Given the description of an element on the screen output the (x, y) to click on. 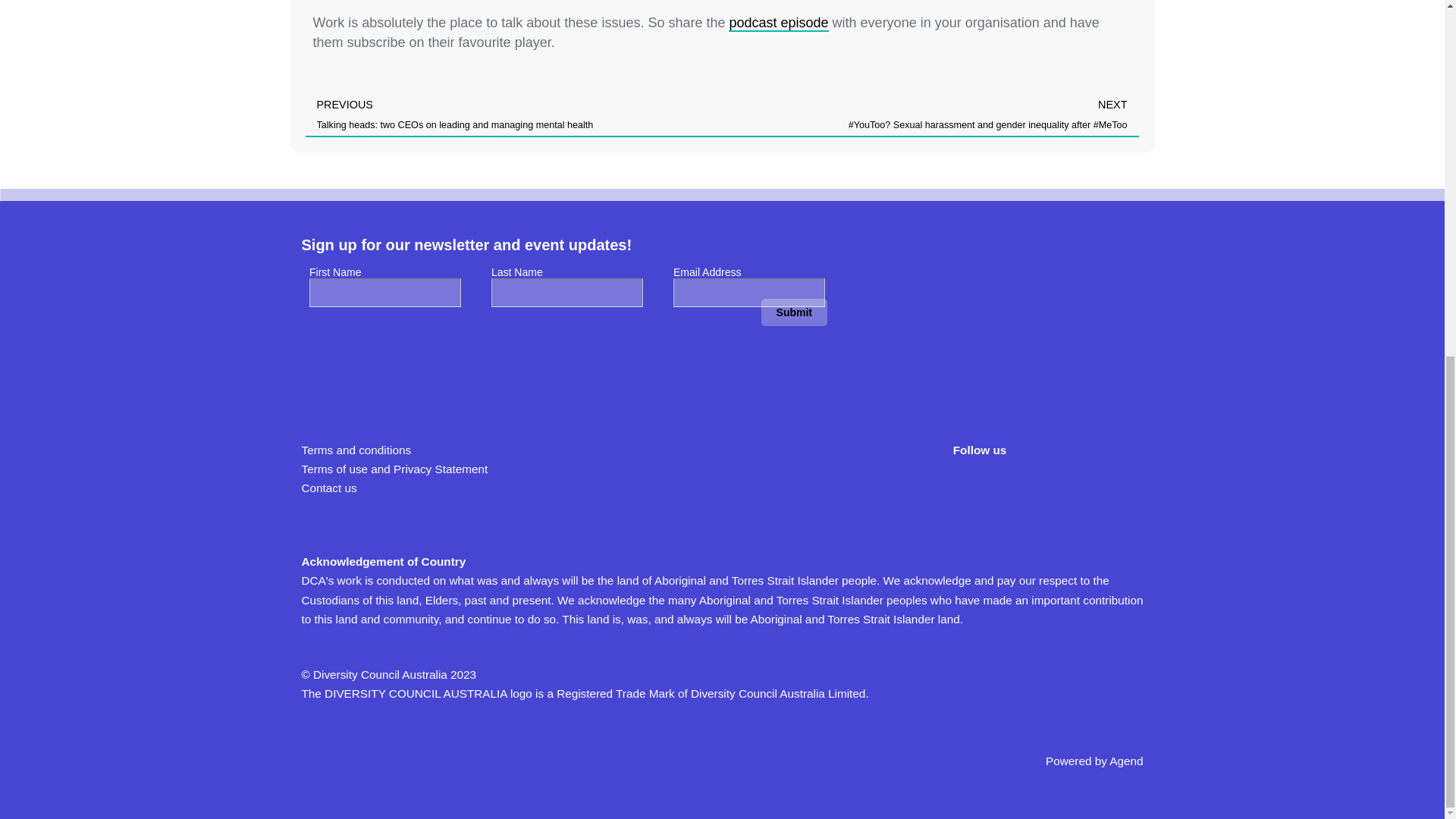
Instagram (1100, 487)
Facebook (968, 487)
LinkedIn (1056, 487)
Twitter (1013, 487)
